Given the description of an element on the screen output the (x, y) to click on. 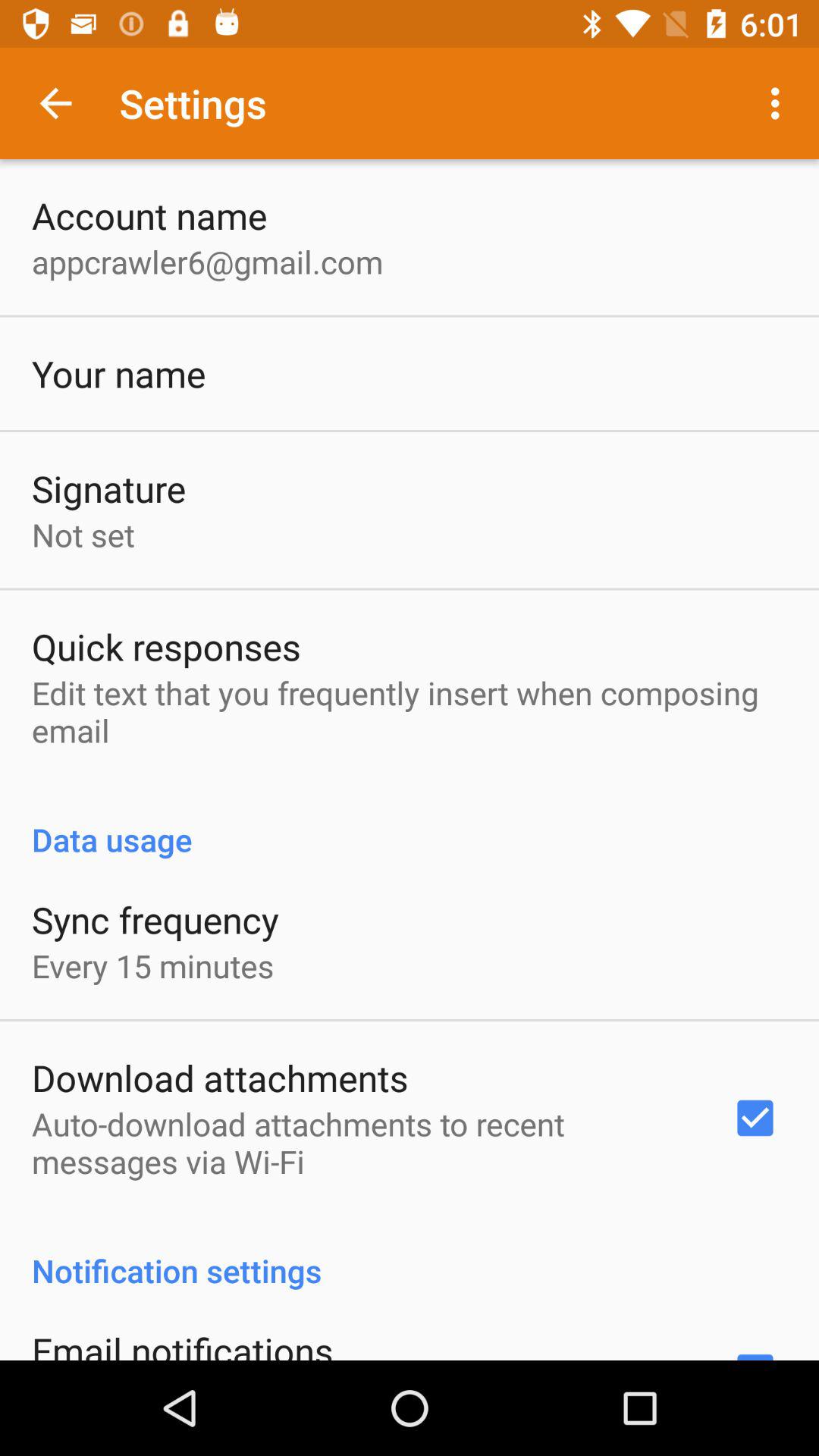
choose the icon to the left of the settings app (55, 103)
